Given the description of an element on the screen output the (x, y) to click on. 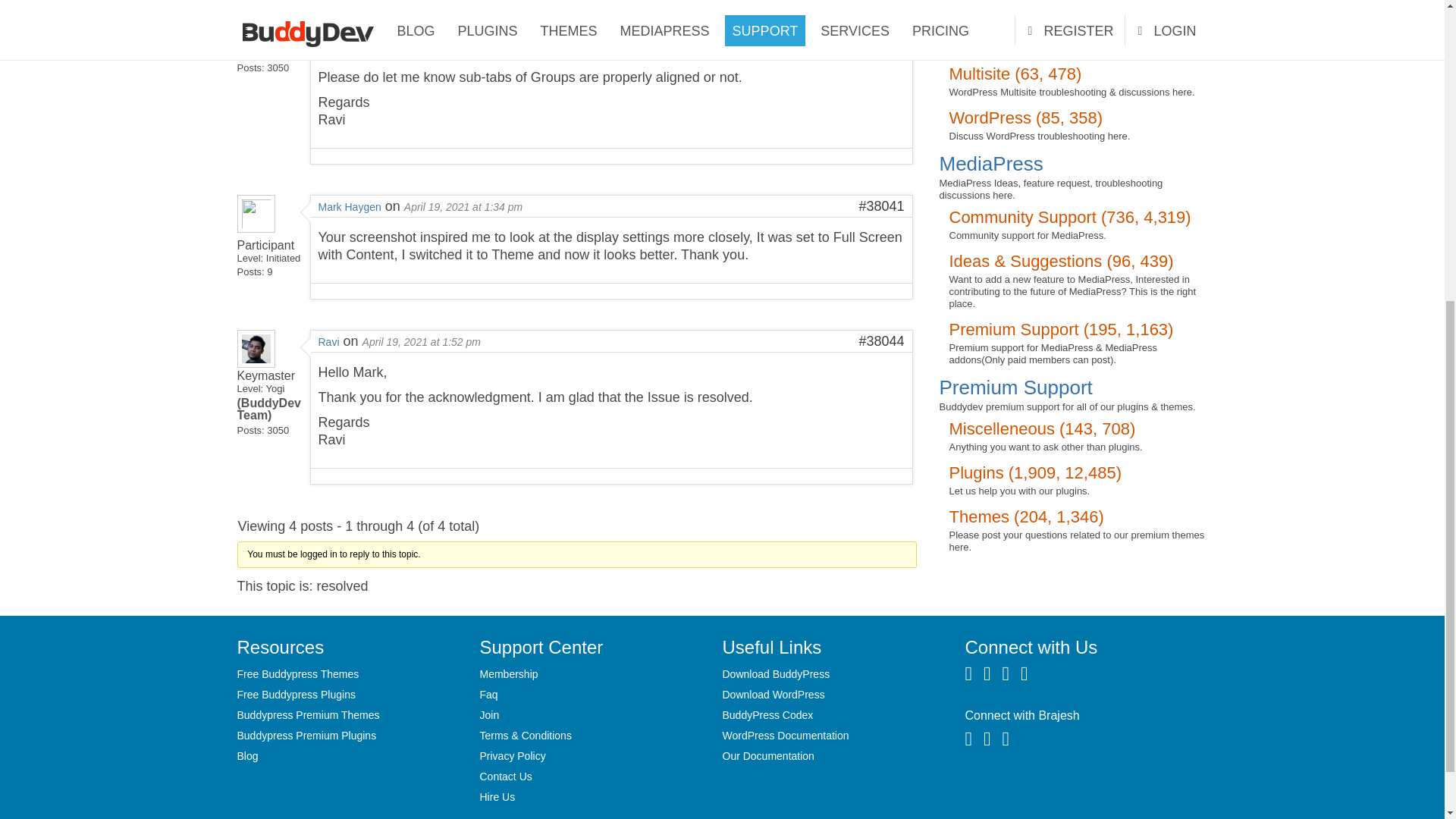
View Ravi's profile (255, 4)
View Mark Haygen's profile (255, 232)
View Ravi's profile (255, 363)
View Mark Haygen's profile (349, 206)
View Ravi's profile (328, 340)
